Given the description of an element on the screen output the (x, y) to click on. 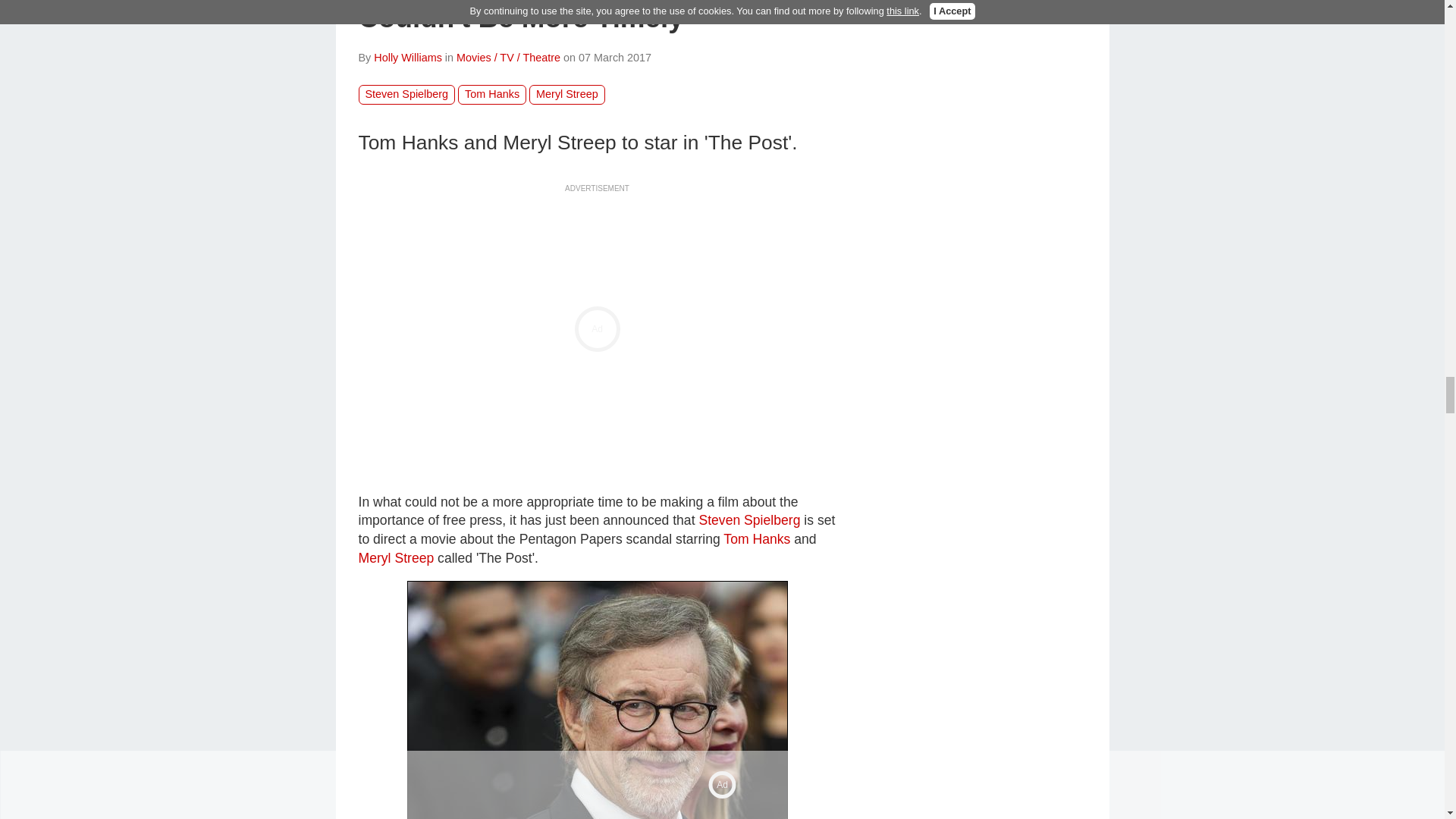
Steven Spielberg (596, 699)
